Given the description of an element on the screen output the (x, y) to click on. 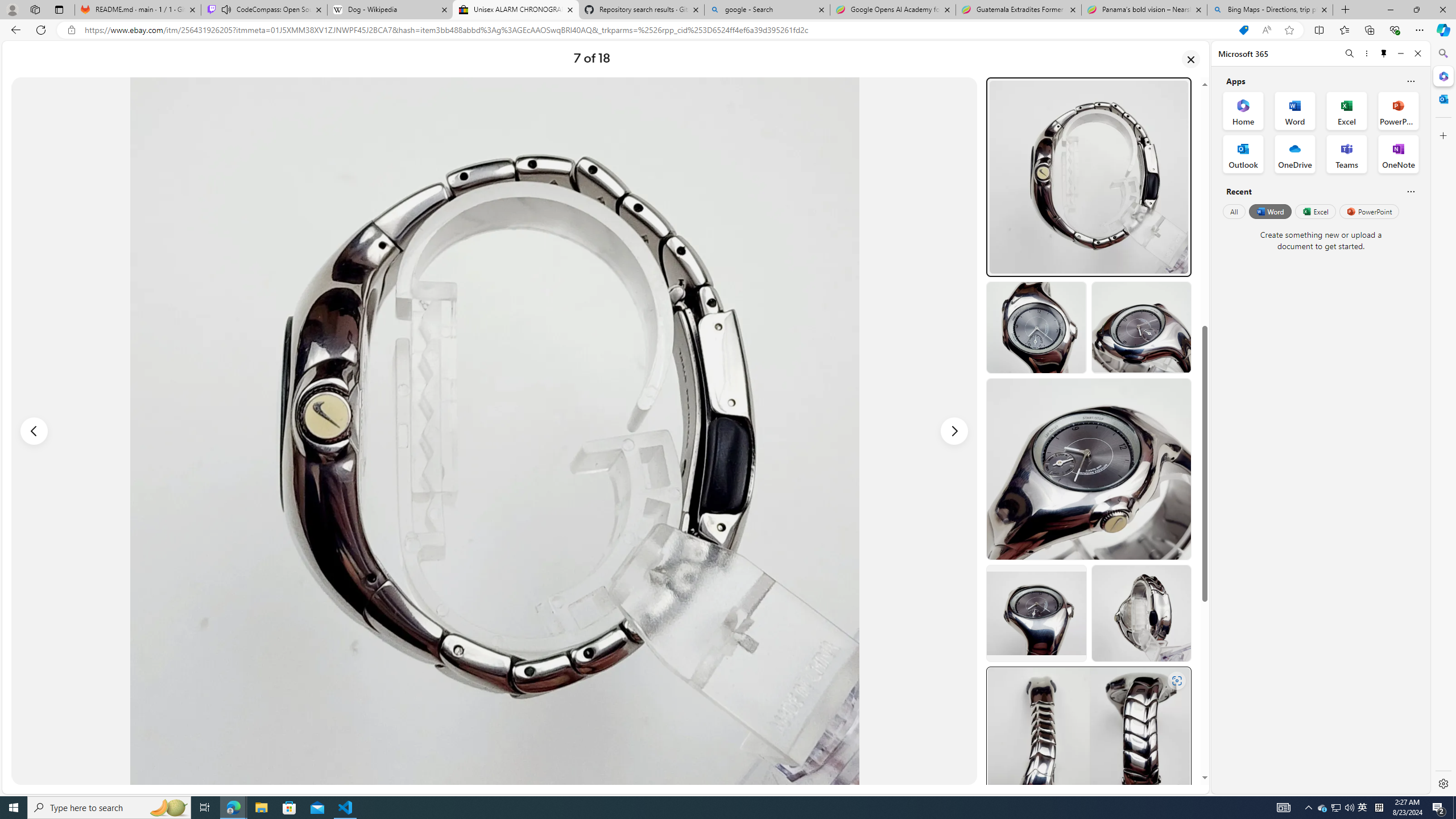
PowerPoint (1369, 210)
Teams Office App (1346, 154)
Is this helpful? (1410, 191)
Outlook Office App (1243, 154)
